Given the description of an element on the screen output the (x, y) to click on. 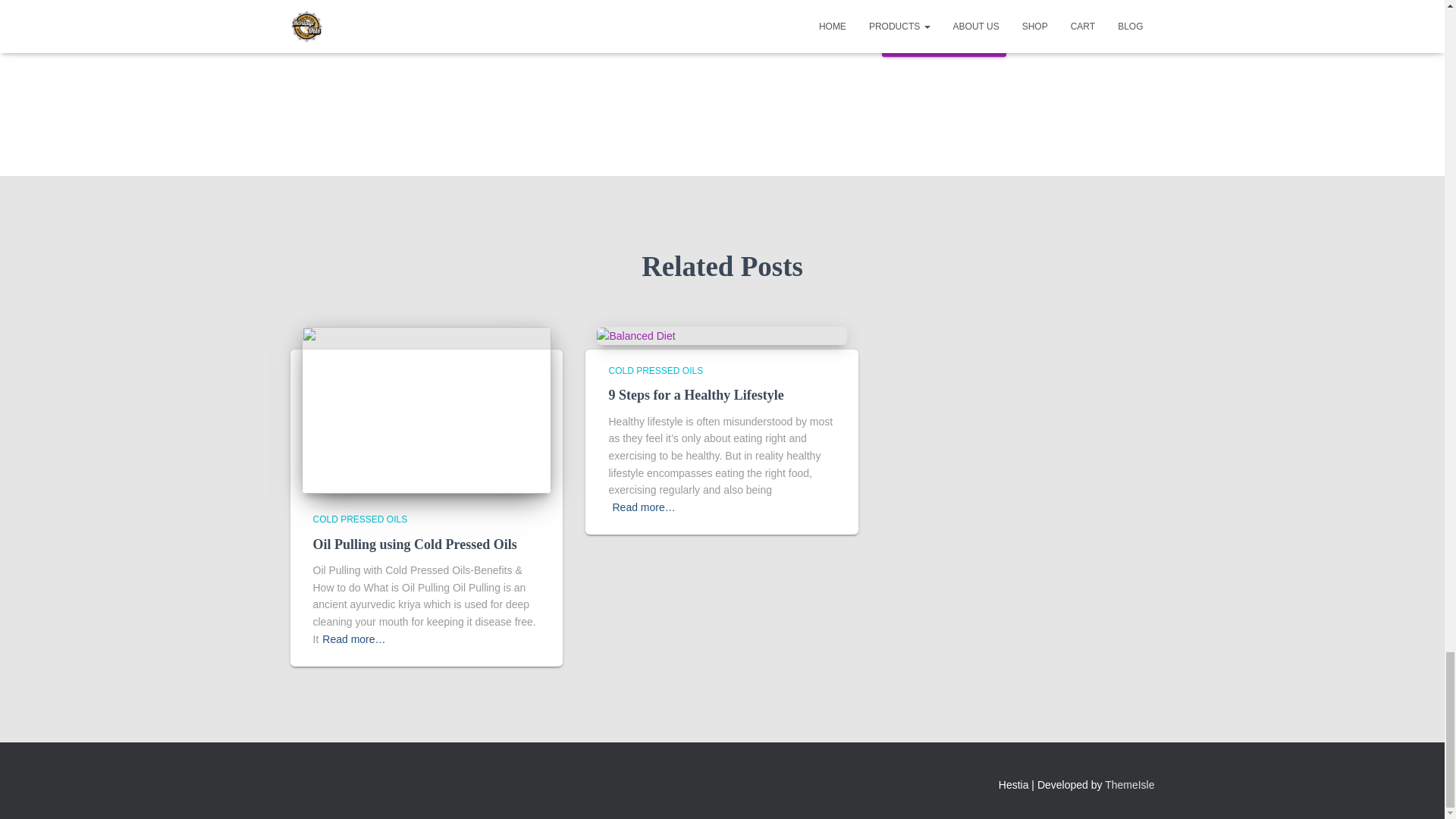
View all posts in Cold Pressed Oils (360, 519)
Oil Pulling using Cold Pressed Oils (414, 544)
9 Steps for a Healthy Lifestyle (695, 394)
COLD PRESSED OILS (655, 370)
Oil Pulling using Cold Pressed Oils (426, 409)
ThemeIsle (1129, 784)
Oil Pulling using Cold Pressed Oils (414, 544)
9 Steps for a Healthy Lifestyle (635, 335)
Post Comment (944, 38)
COLD PRESSED OILS (360, 519)
Post Comment (944, 38)
